Given the description of an element on the screen output the (x, y) to click on. 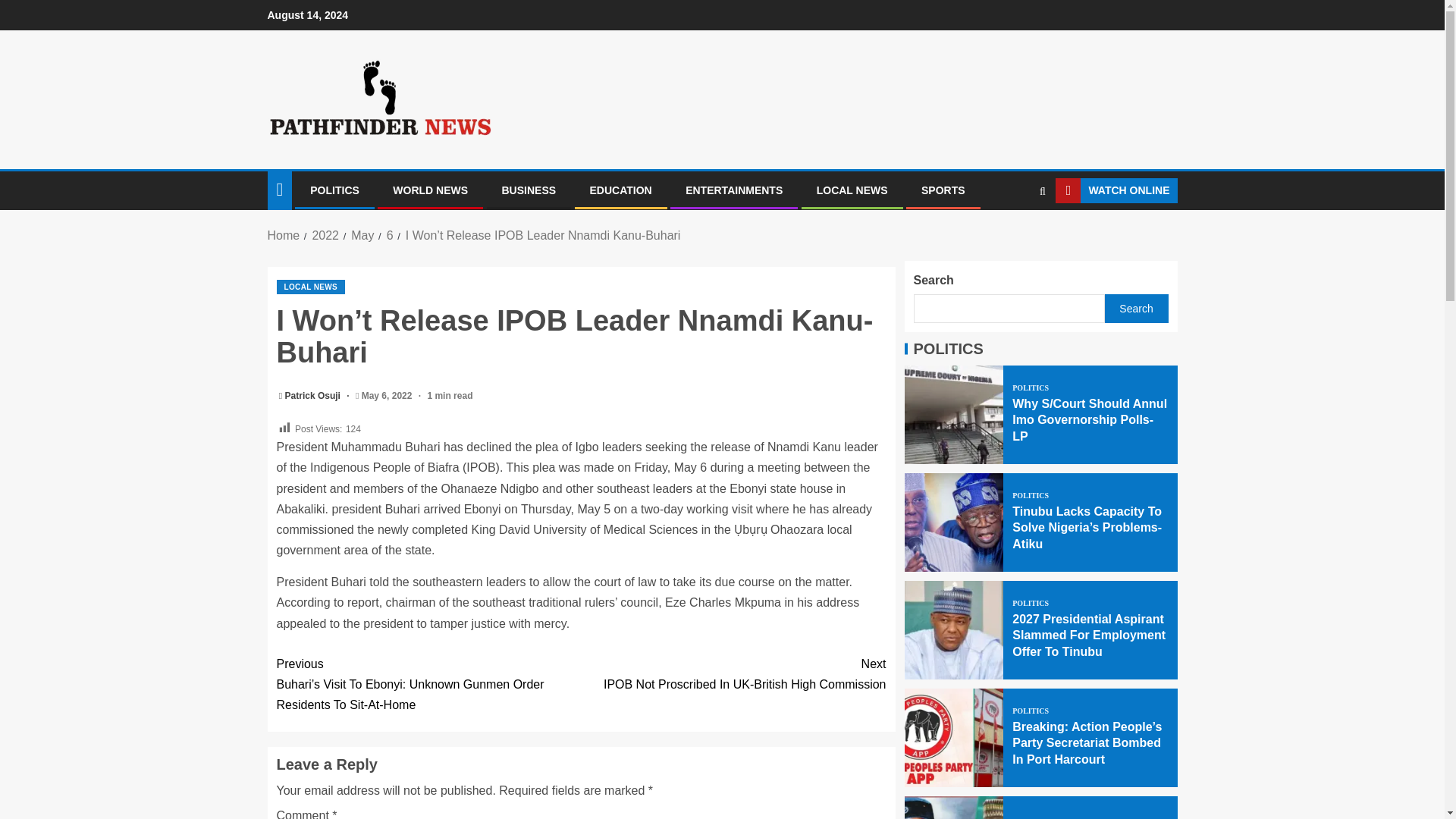
Search (1013, 235)
EDUCATION (620, 190)
BUSINESS (529, 190)
ENTERTAINMENTS (734, 190)
SPORTS (943, 190)
WORLD NEWS (430, 190)
2022 (732, 673)
May (325, 235)
LOCAL NEWS (362, 235)
